Given the description of an element on the screen output the (x, y) to click on. 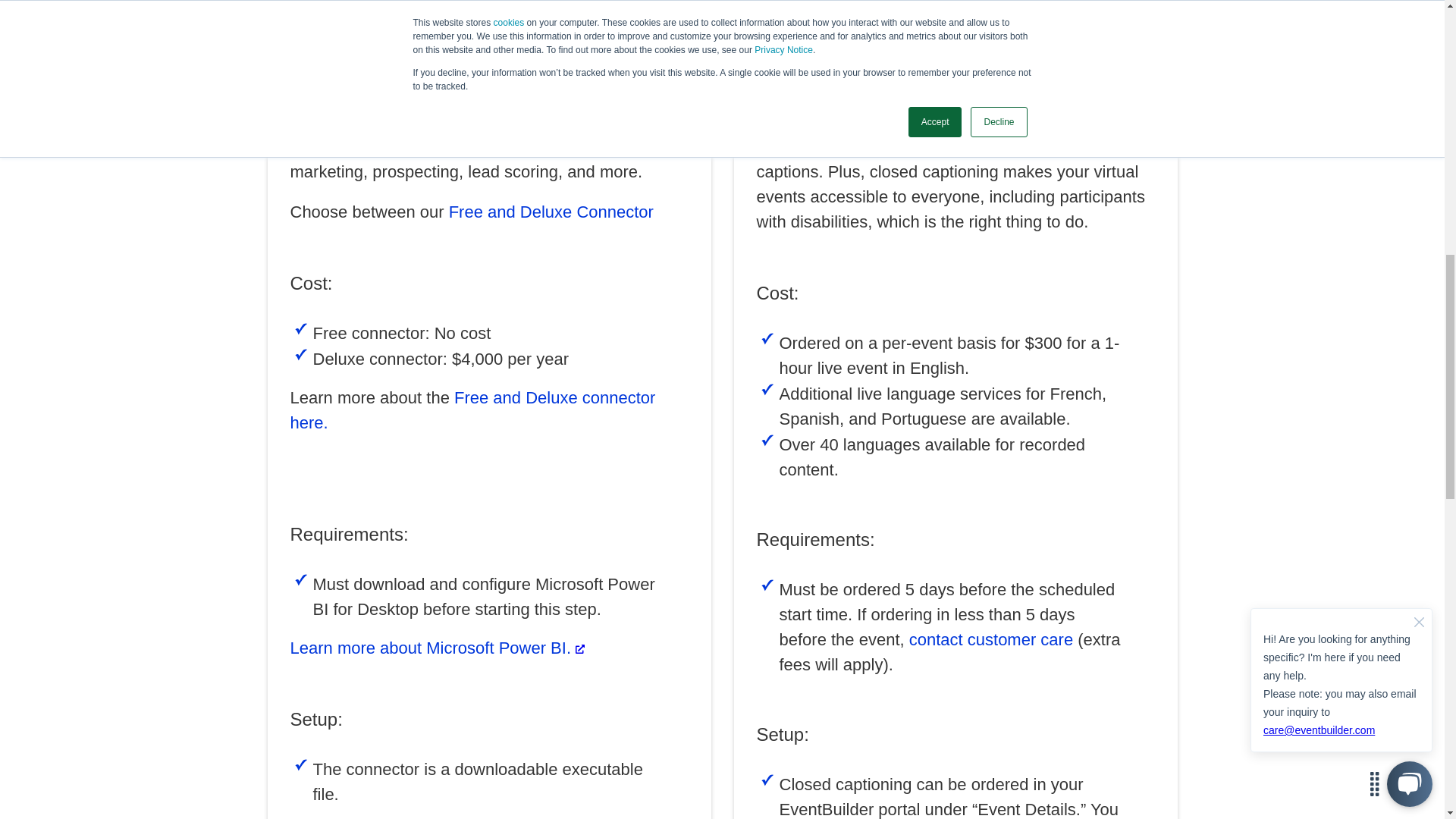
Free and Deluxe Connector (550, 211)
Microsoft Power BI Information (580, 648)
Free and Deluxe connector here.  (472, 410)
